Given the description of an element on the screen output the (x, y) to click on. 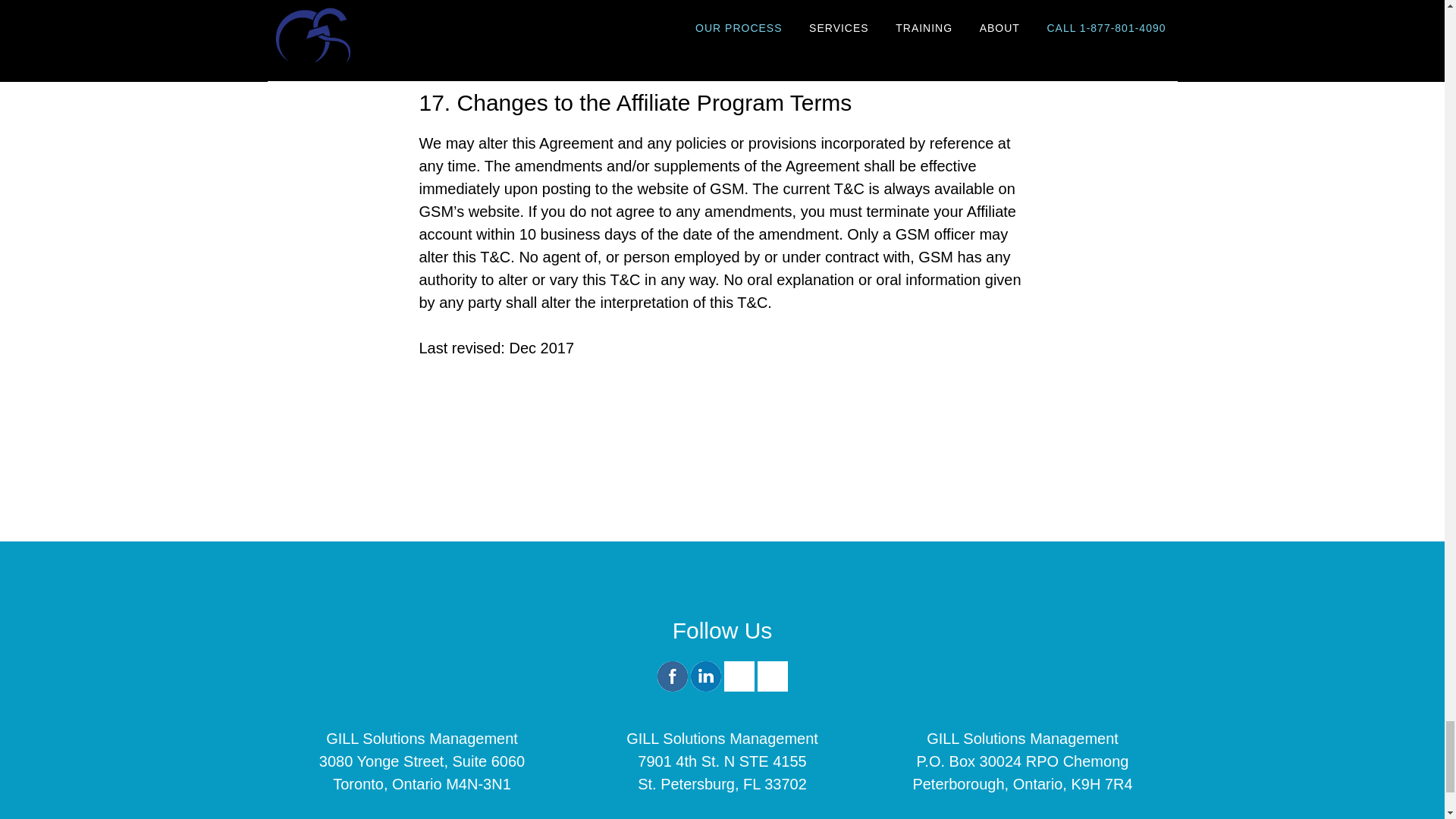
LinkedIn (705, 675)
Facebook (671, 675)
Twitter (738, 675)
LinkedIn (705, 687)
YouTube (772, 675)
Facebook (671, 687)
YouTube (772, 687)
Twitter (738, 687)
